Given the description of an element on the screen output the (x, y) to click on. 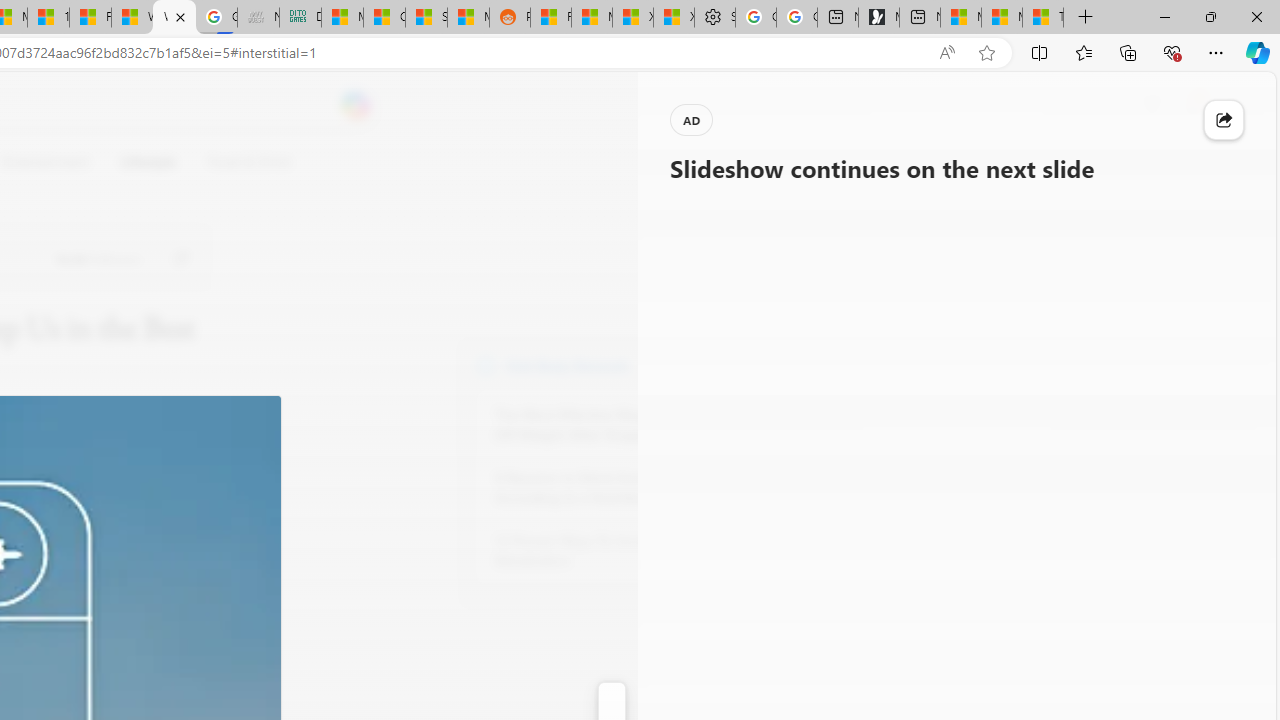
Go to publisher's site (180, 258)
